Given the description of an element on the screen output the (x, y) to click on. 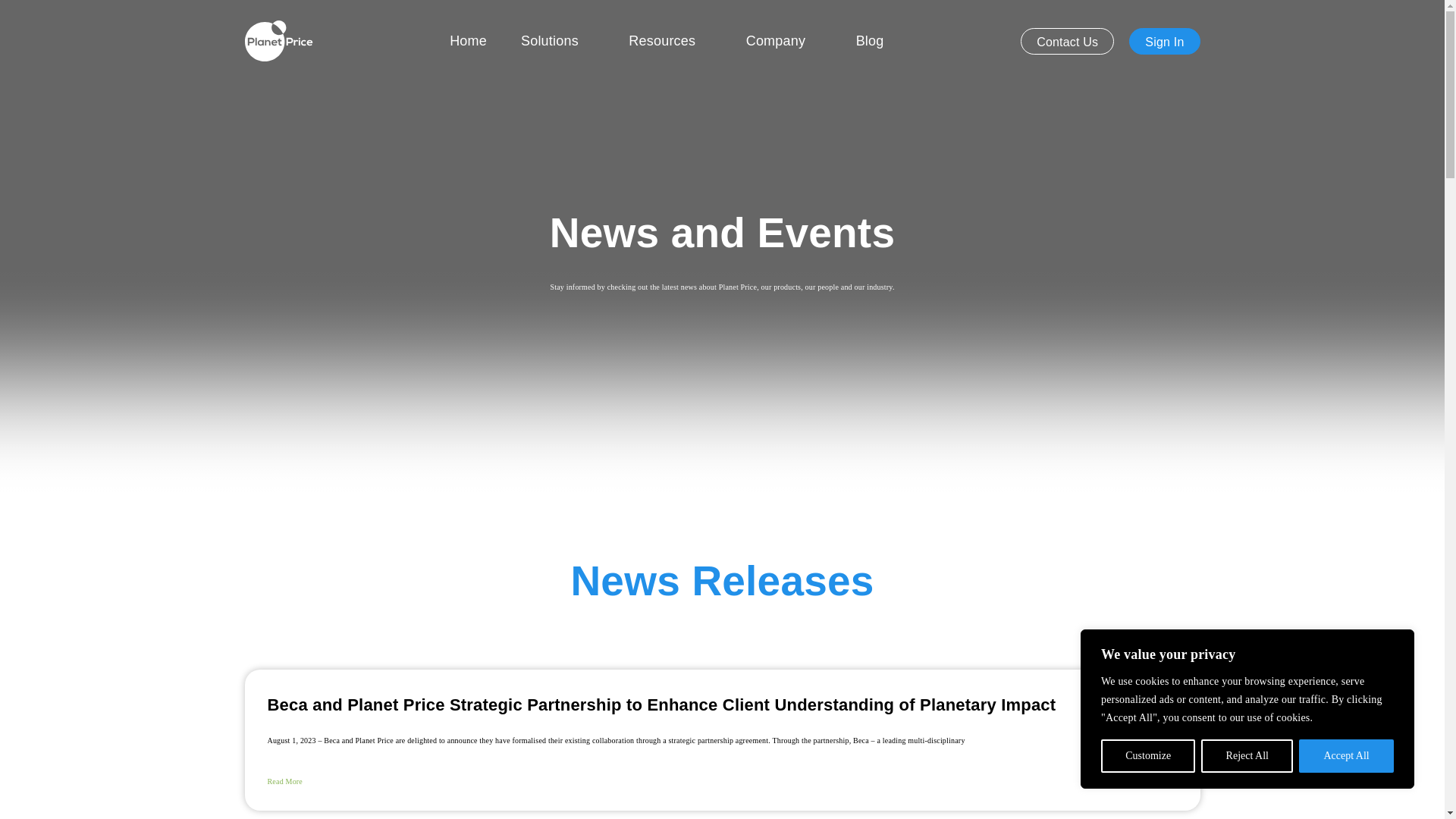
Resources (669, 41)
Home (467, 41)
Blog (869, 41)
Accept All (1345, 756)
Company (783, 41)
Solutions (557, 41)
Sign In (1164, 40)
Customize (1147, 756)
Reject All (1246, 756)
Contact Us (1066, 40)
